Given the description of an element on the screen output the (x, y) to click on. 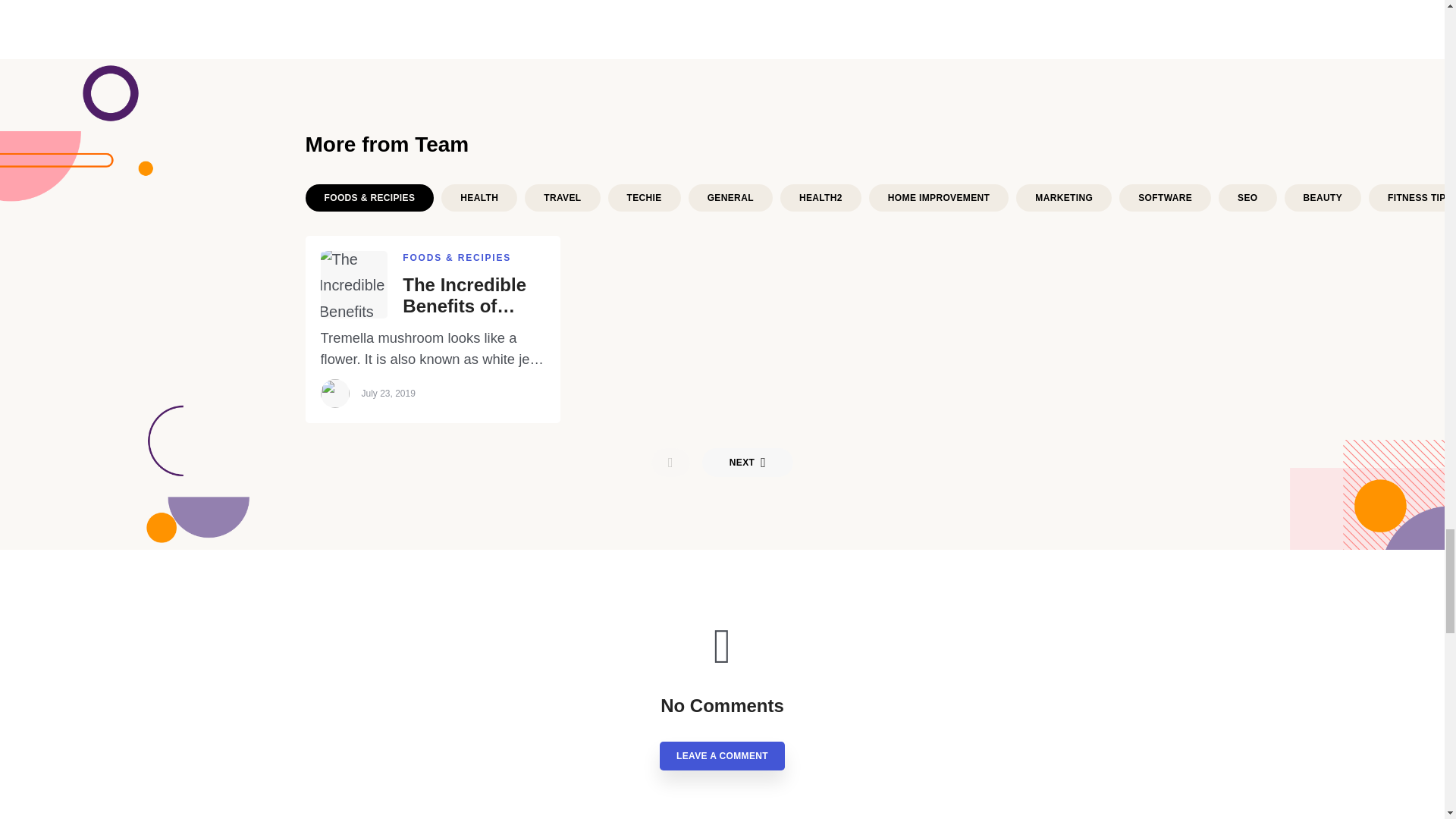
HEALTH2 (820, 197)
TECHIE (644, 197)
BEAUTY (1322, 197)
The Incredible Benefits of Tremella Mushroom (473, 296)
GENERAL (730, 197)
HOME IMPROVEMENT (939, 197)
SOFTWARE (1165, 197)
HEALTH (478, 197)
TRAVEL (561, 197)
SEO (1247, 197)
MARKETING (1064, 197)
